Given the description of an element on the screen output the (x, y) to click on. 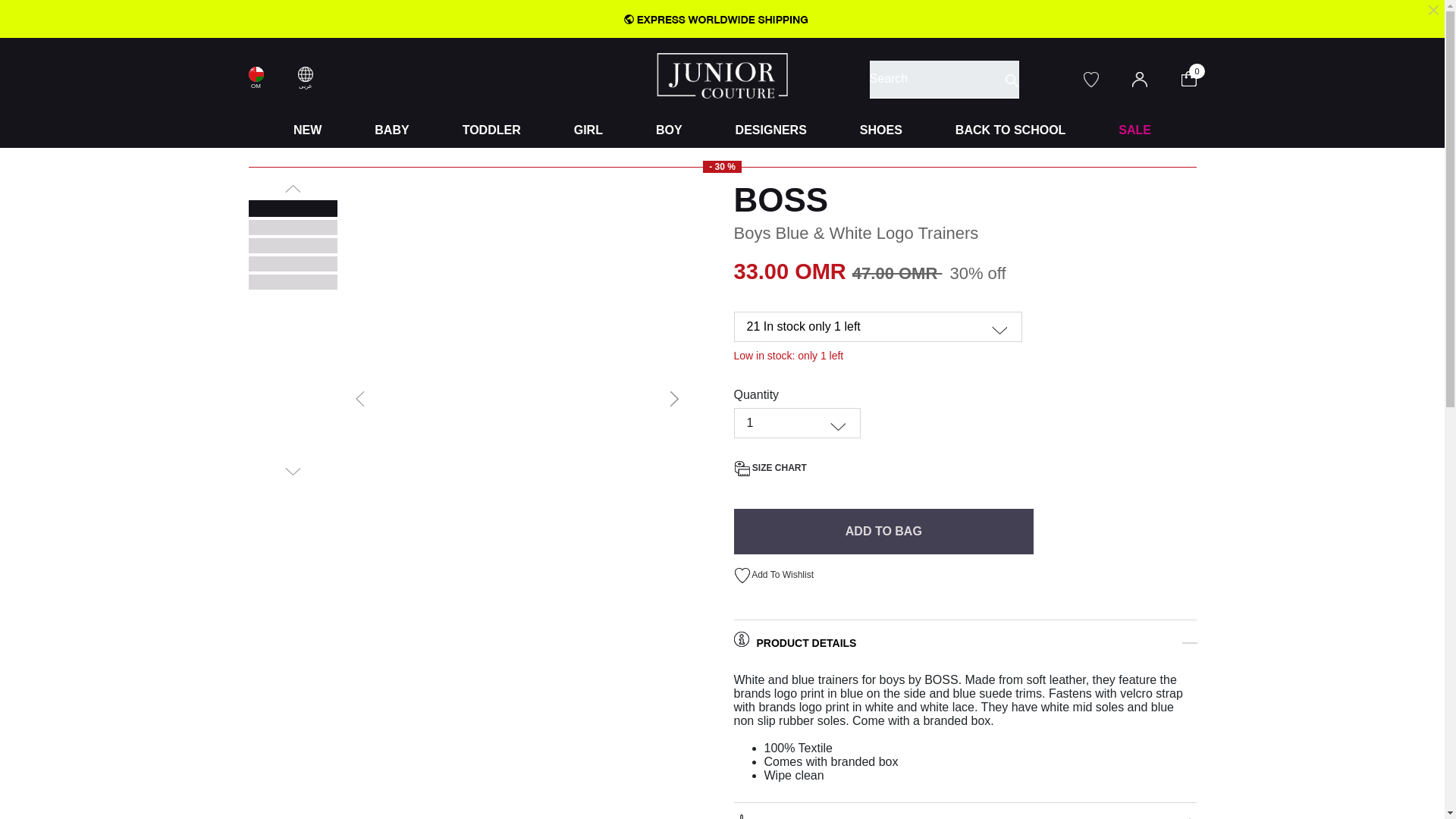
Juniour Couture Home (721, 74)
0 (1197, 77)
Cart 0 Items (1197, 77)
